Given the description of an element on the screen output the (x, y) to click on. 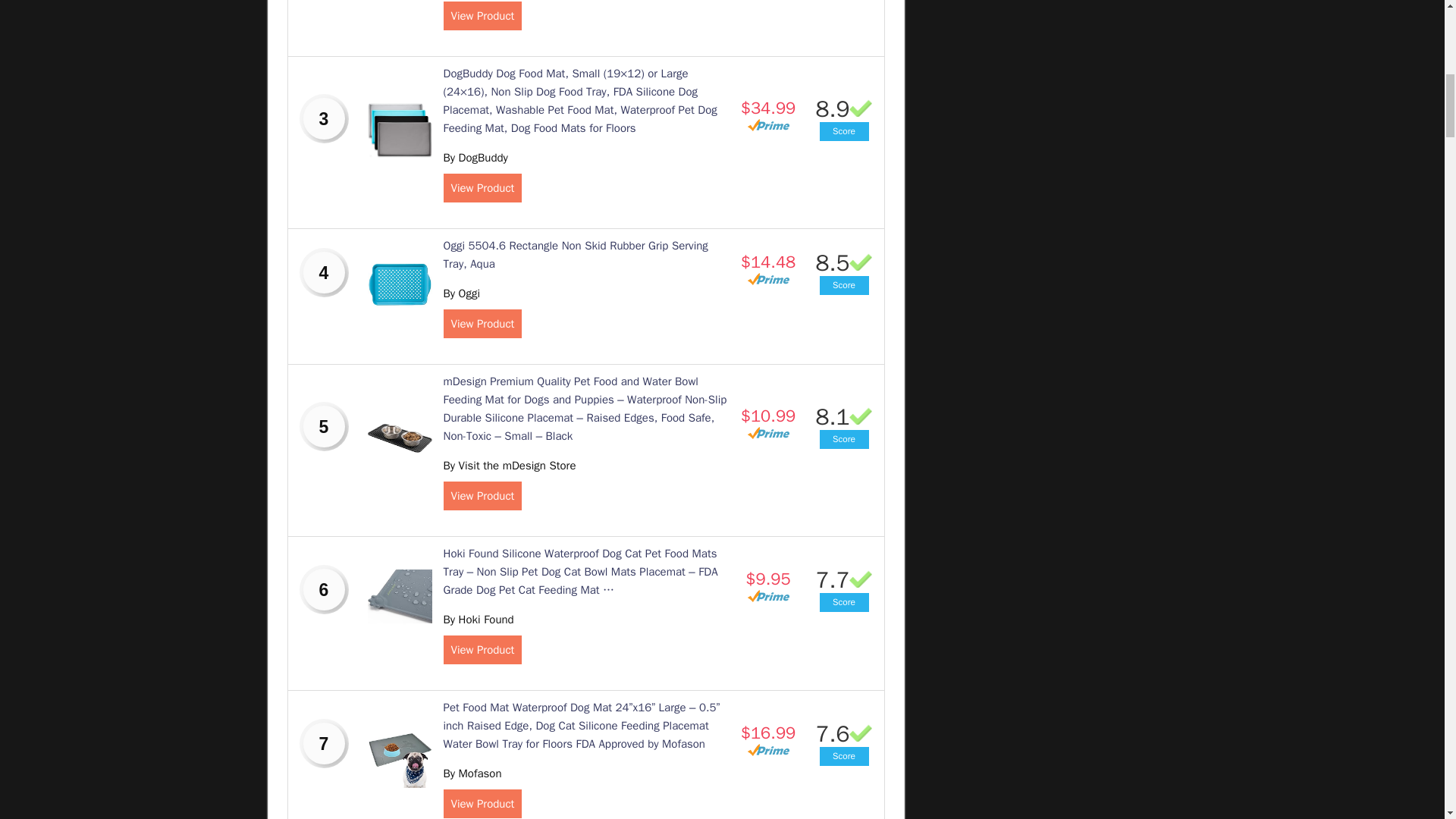
By Hoki Found (477, 619)
By Oggi (461, 293)
By DogBuddy (474, 157)
View Product (481, 323)
View Product (481, 649)
By Visit the mDesign Store (508, 465)
View Product (481, 495)
View Product (481, 187)
View Product (481, 15)
